Given the description of an element on the screen output the (x, y) to click on. 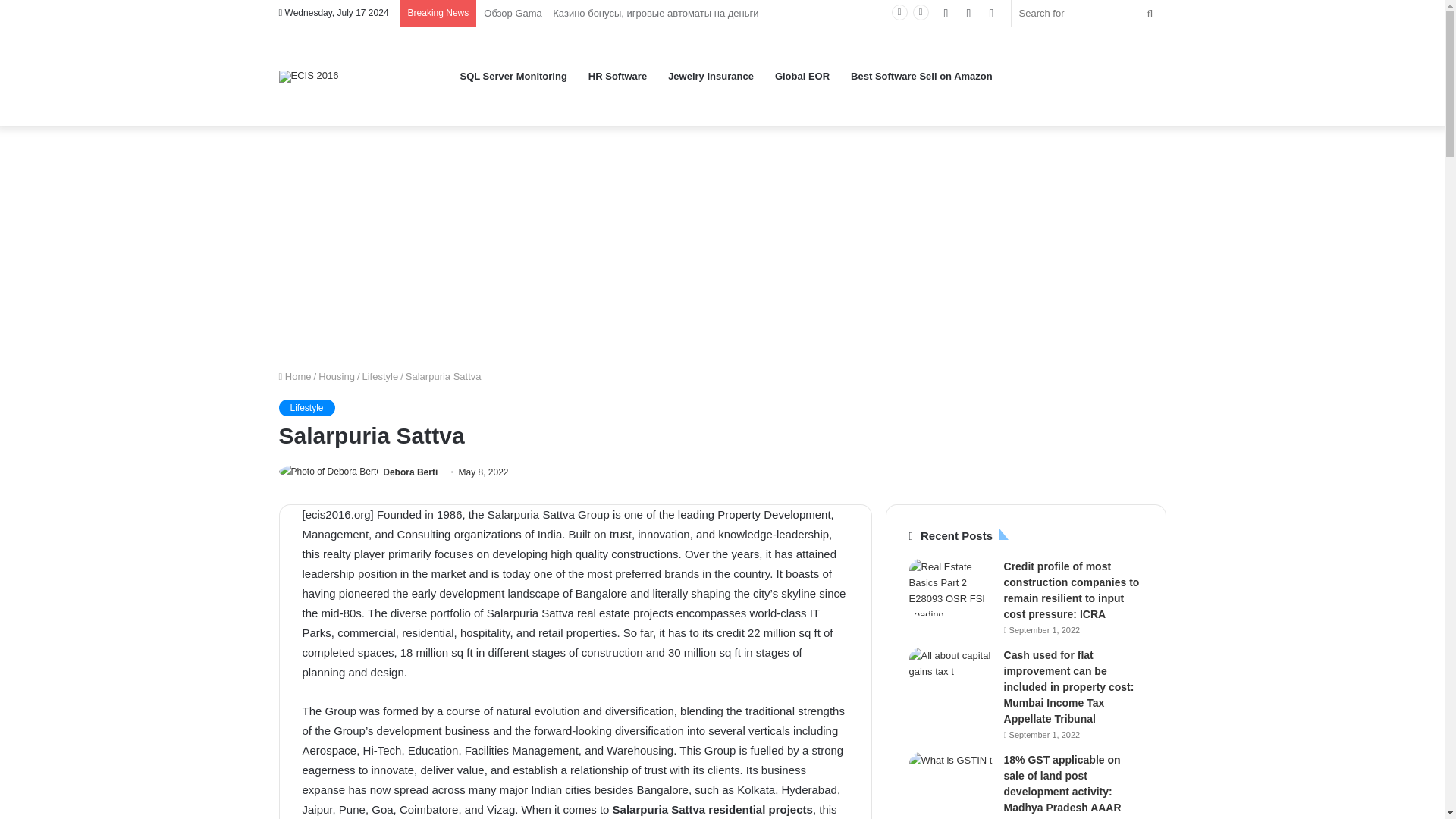
Best Software Sell on Amazon (921, 76)
HR Software (618, 76)
Lifestyle (306, 407)
Sidebar (991, 13)
Random Article (967, 13)
Random Article (967, 13)
Jewelry Insurance (711, 76)
Debora Berti (410, 471)
Global EOR (802, 76)
Housing (336, 376)
Lifestyle (380, 376)
Log In (945, 13)
Debora Berti (410, 471)
Home (295, 376)
